Given the description of an element on the screen output the (x, y) to click on. 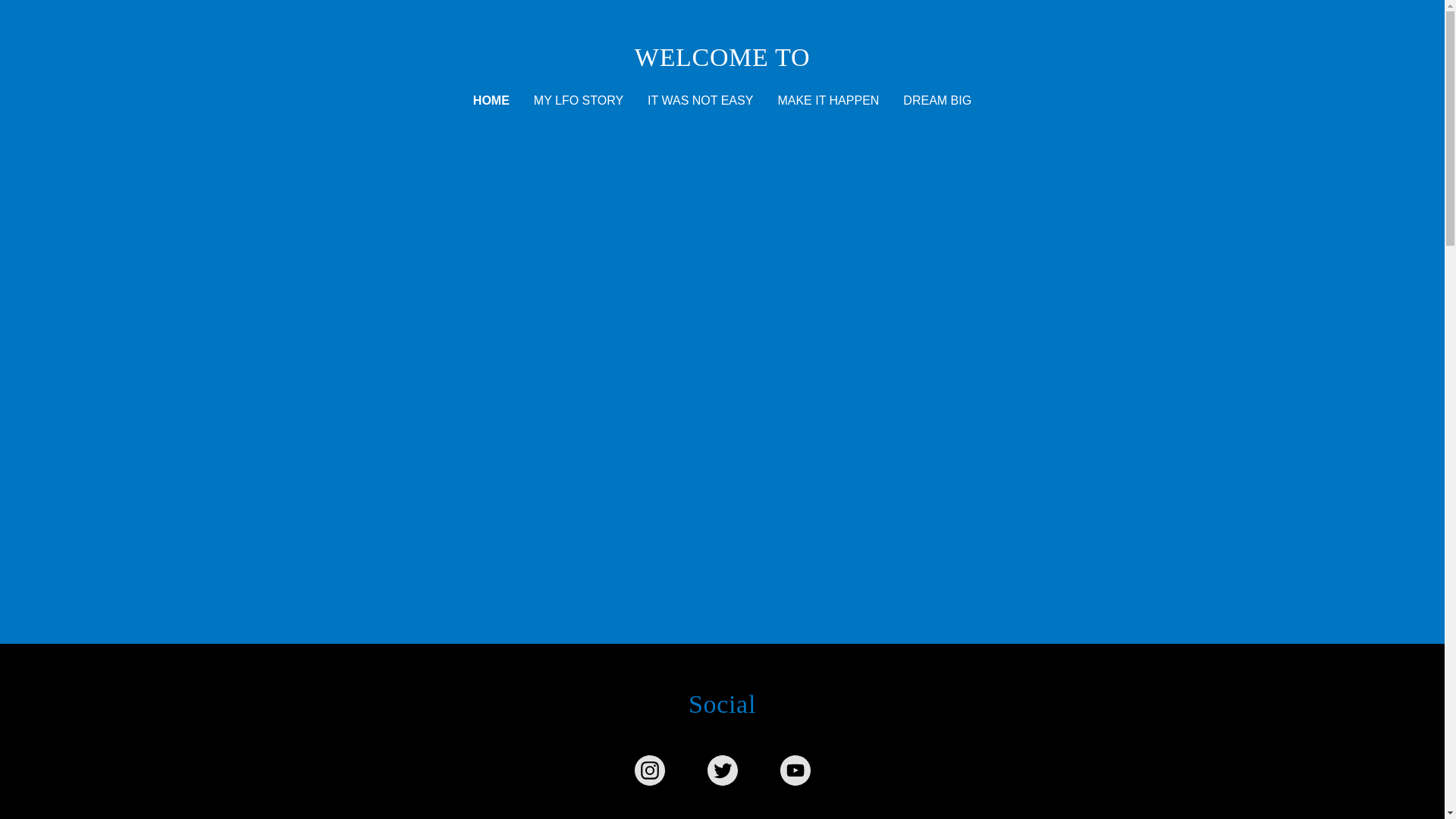
WELCOME TO (721, 61)
HOME (491, 100)
WELCOME TO (721, 61)
MAKE IT HAPPEN (828, 100)
DREAM BIG (936, 100)
MY LFO STORY (578, 100)
IT WAS NOT EASY (700, 100)
